Given the description of an element on the screen output the (x, y) to click on. 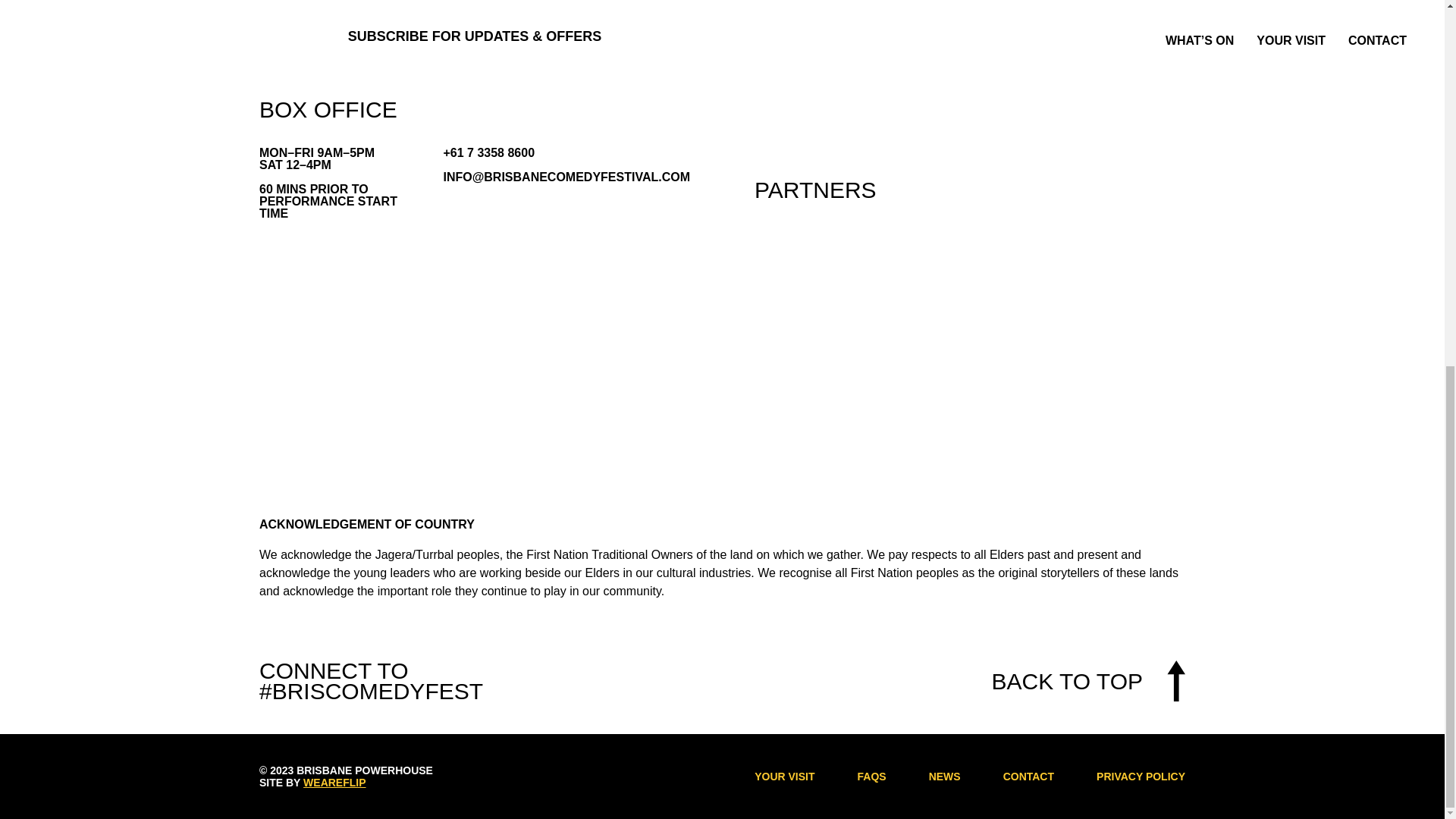
NEWS (944, 776)
WEAREFLIP (333, 782)
YOUR VISIT (783, 776)
FAQS (871, 776)
CONTACT (1028, 776)
BACK TO TOP (1088, 680)
PRIVACY POLICY (1140, 776)
